Given the description of an element on the screen output the (x, y) to click on. 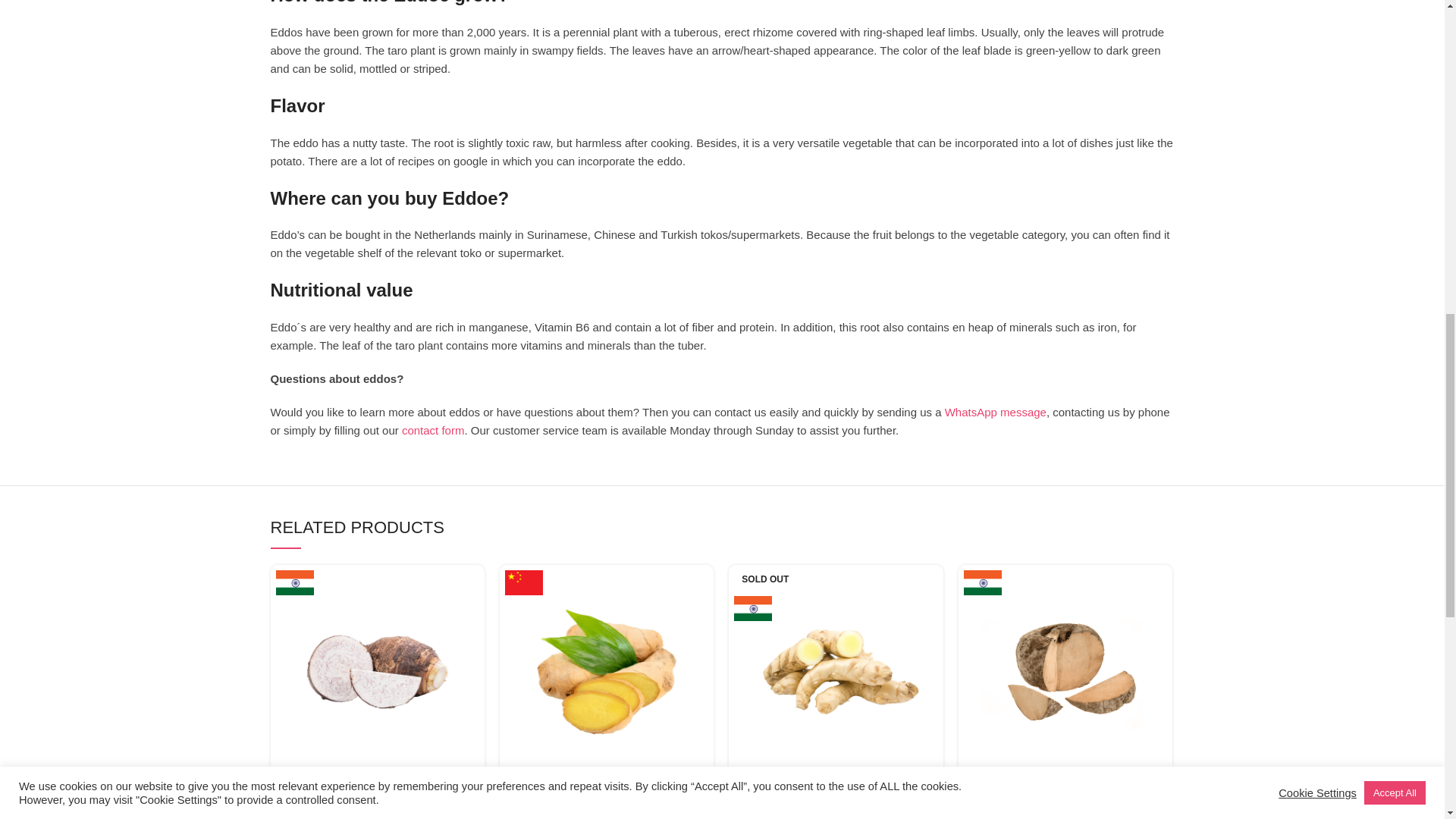
india-en (752, 608)
india-en (982, 582)
india-en (295, 582)
china-en (524, 582)
